Given the description of an element on the screen output the (x, y) to click on. 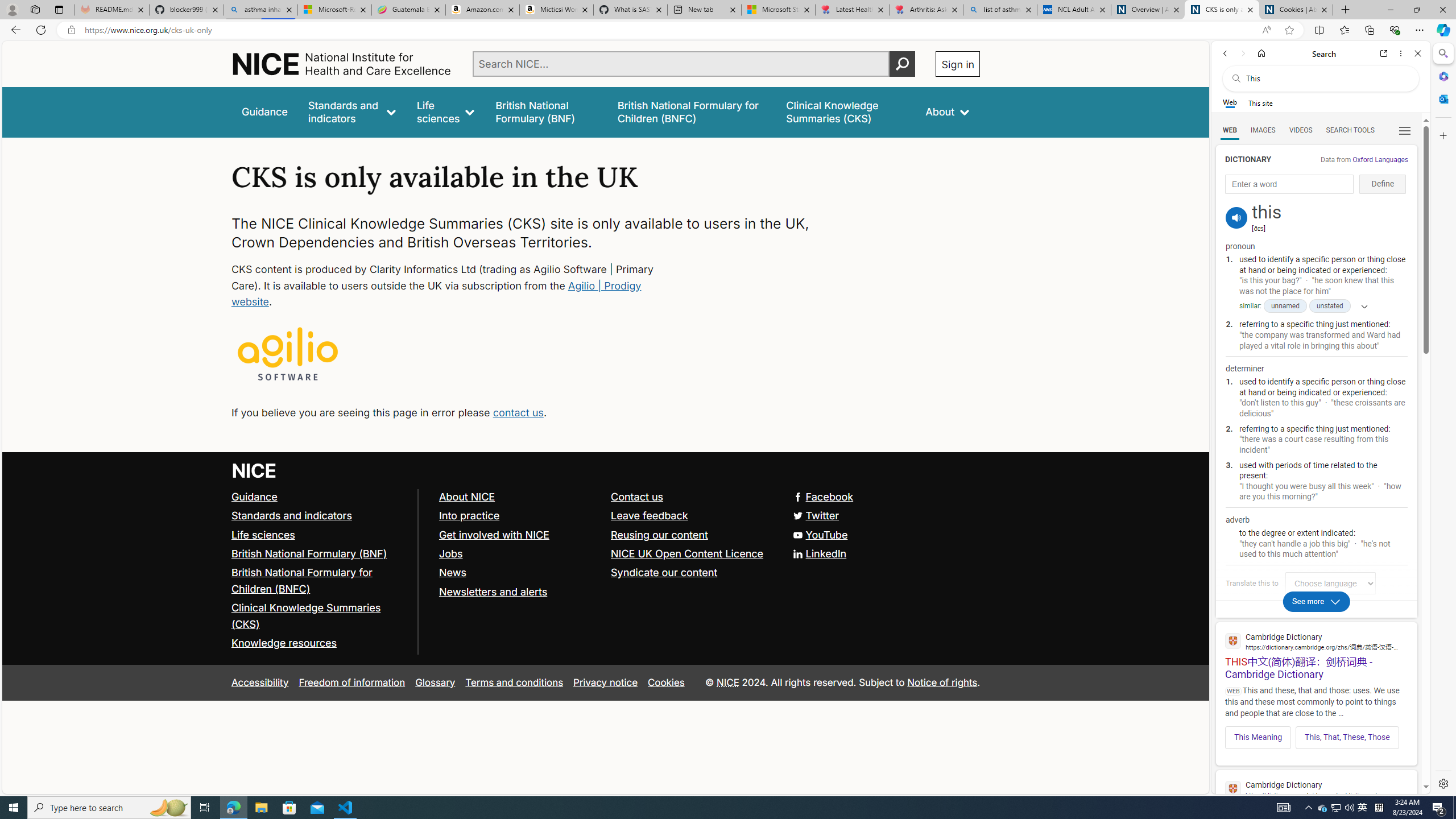
Go to NICE home page (253, 470)
Cookies | About | NICE (1295, 9)
Privacy notice (605, 682)
Syndicate our content (692, 572)
Cookies (665, 682)
Twitter (605, 515)
Glossary (434, 682)
Leave feedback (692, 515)
